Given the description of an element on the screen output the (x, y) to click on. 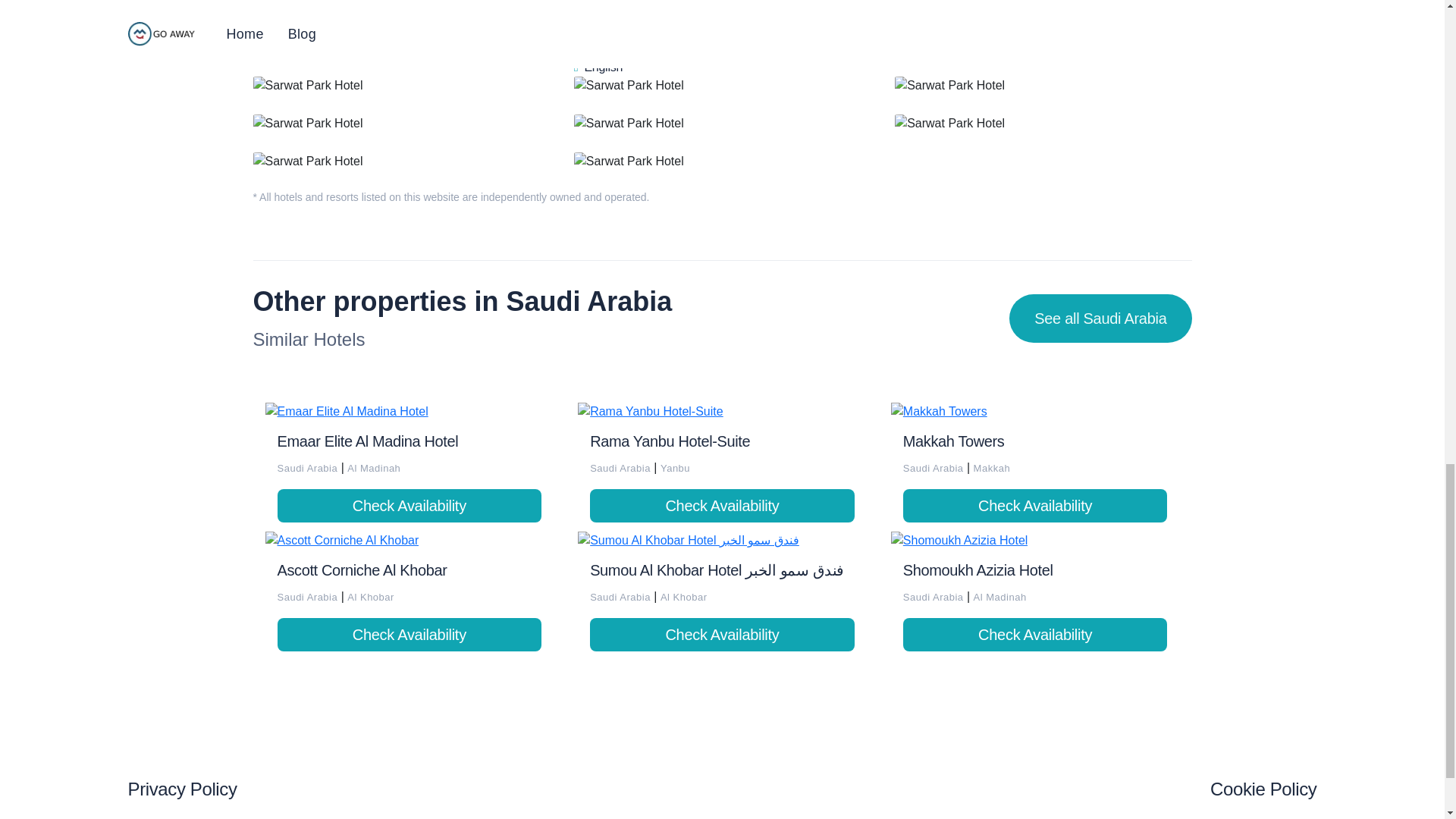
Saudi Arabia (309, 595)
Saudi Arabia (621, 467)
Saudi Arabia (621, 595)
Shomoukh Azizia Hotel (977, 569)
Check Availability (409, 505)
Rama Yanbu Hotel-Suite (669, 440)
Check Availability (721, 634)
Ascott Corniche Al Khobar (362, 569)
Saudi Arabia (309, 467)
Saudi Arabia (934, 595)
